Given the description of an element on the screen output the (x, y) to click on. 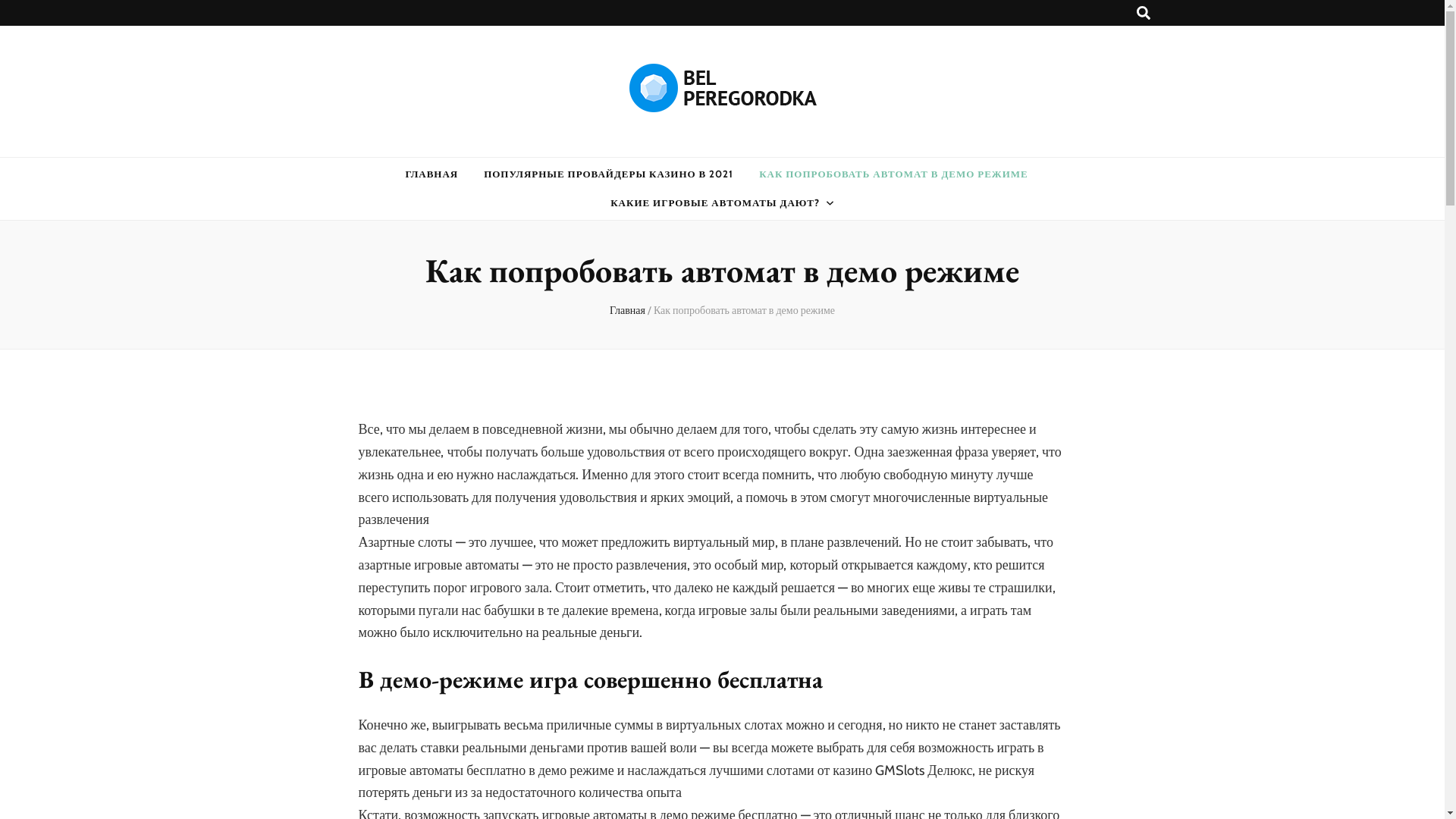
belperegorodka.by Element type: text (477, 143)
